Given the description of an element on the screen output the (x, y) to click on. 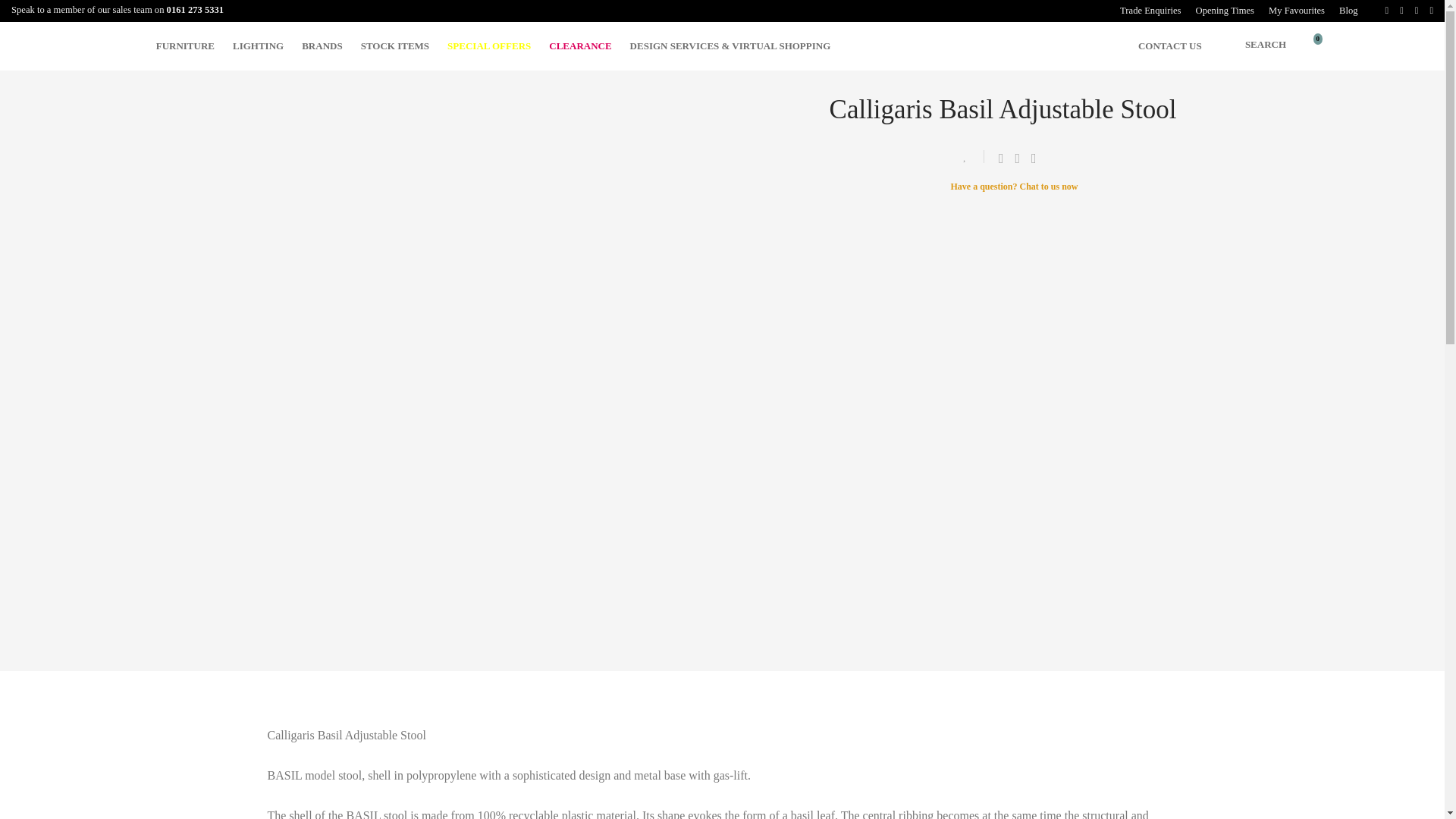
CREATED WITH SKETCH. (1311, 45)
My Favourites (1296, 10)
Opening Times (1225, 10)
FURNITURE (185, 45)
LIGHTING (258, 45)
Blog (1345, 10)
Add to Wishlist (971, 155)
Trade Enquiries (1150, 10)
